Given the description of an element on the screen output the (x, y) to click on. 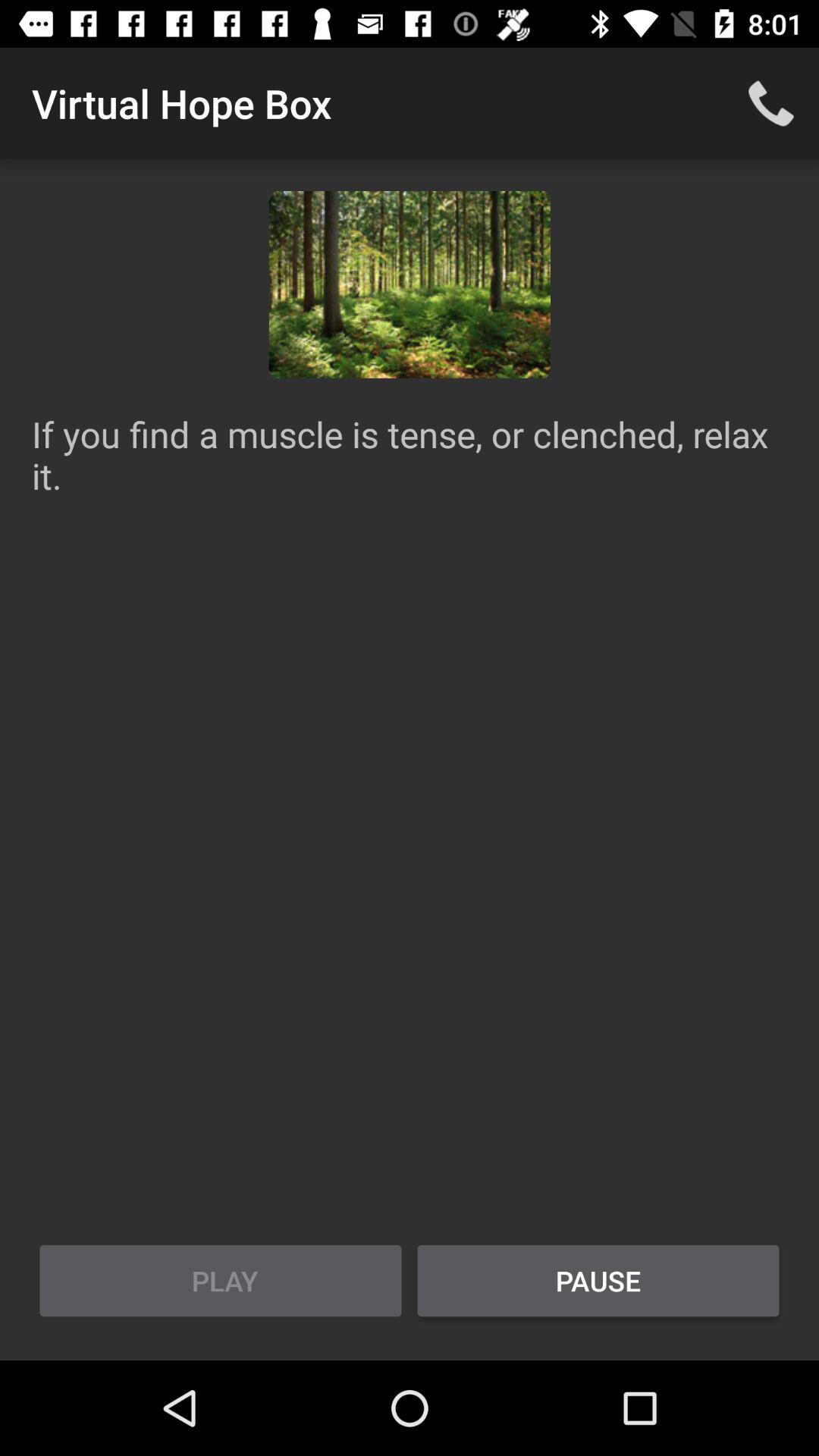
tap play at the bottom left corner (220, 1280)
